Given the description of an element on the screen output the (x, y) to click on. 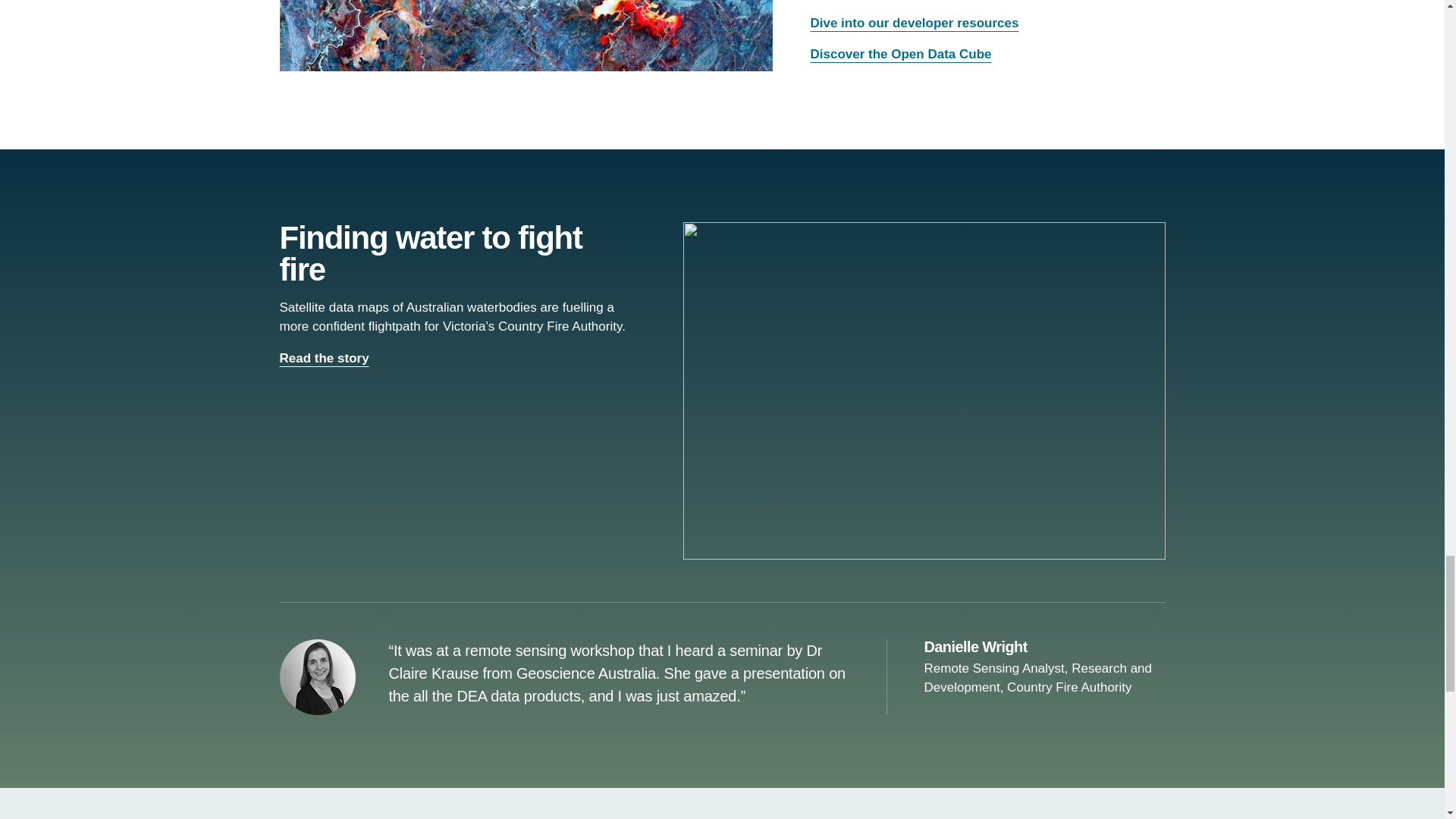
Dive into our developer resources (913, 22)
Read the story (326, 358)
Discover the Open Data Cube (900, 53)
